Given the description of an element on the screen output the (x, y) to click on. 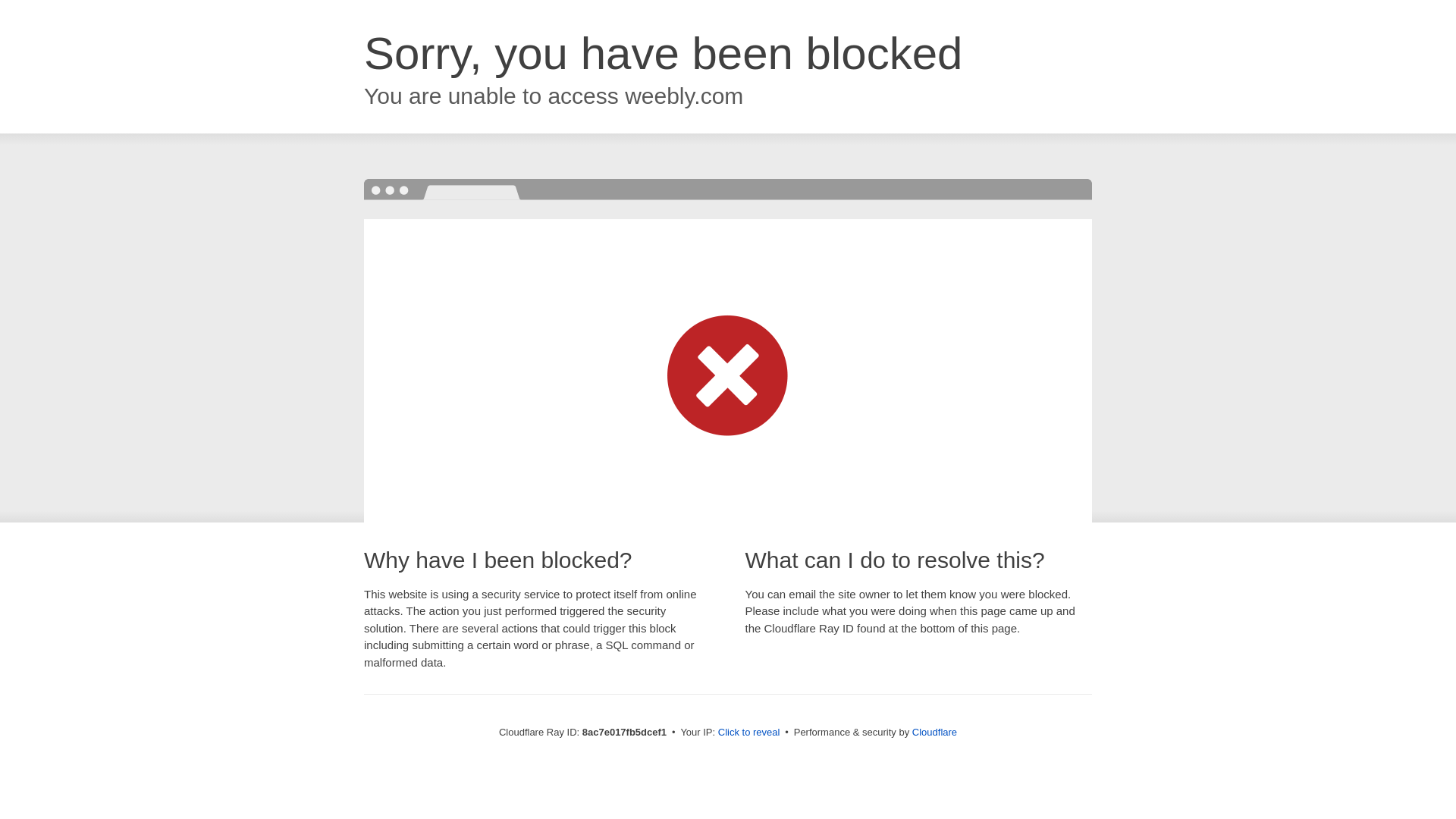
Click to reveal (748, 732)
Cloudflare (934, 731)
